Given the description of an element on the screen output the (x, y) to click on. 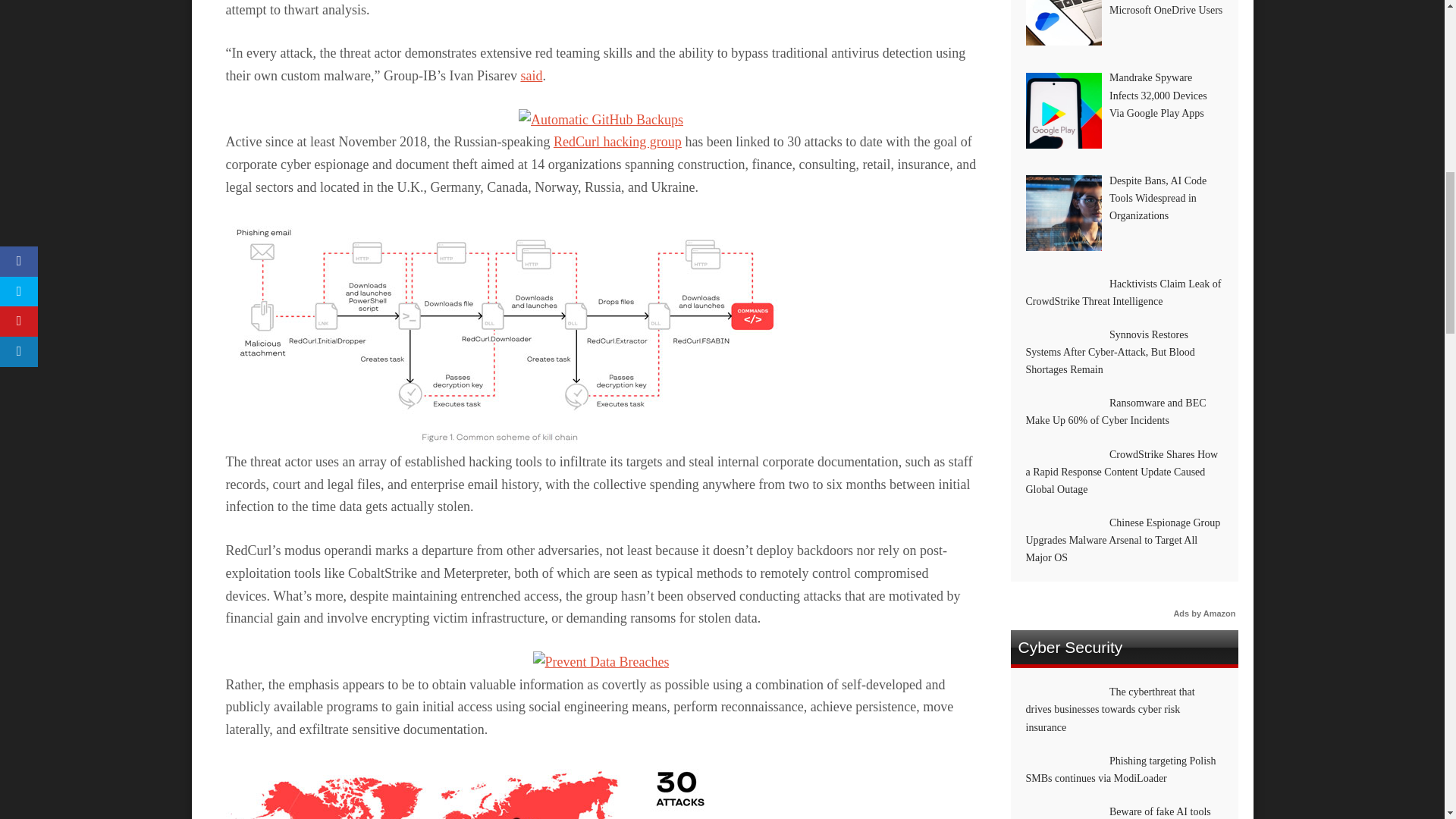
Prevent Data Breaches (600, 661)
Automatic GitHub Backups (600, 119)
